Given the description of an element on the screen output the (x, y) to click on. 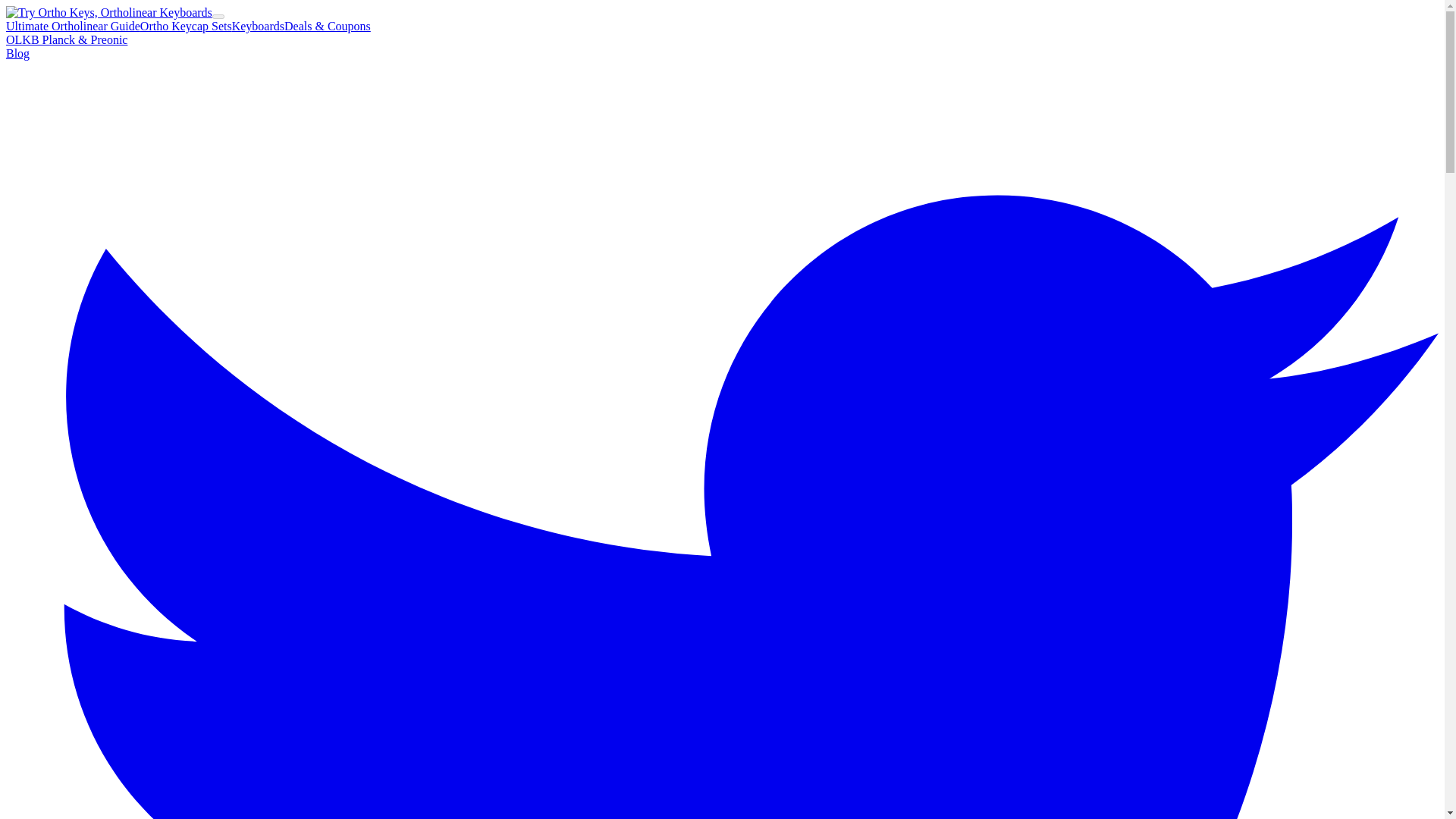
Ortho Keycap Sets (185, 25)
Blog (17, 52)
Ultimate Ortholinear Guide (72, 25)
Keyboards (257, 25)
